Given the description of an element on the screen output the (x, y) to click on. 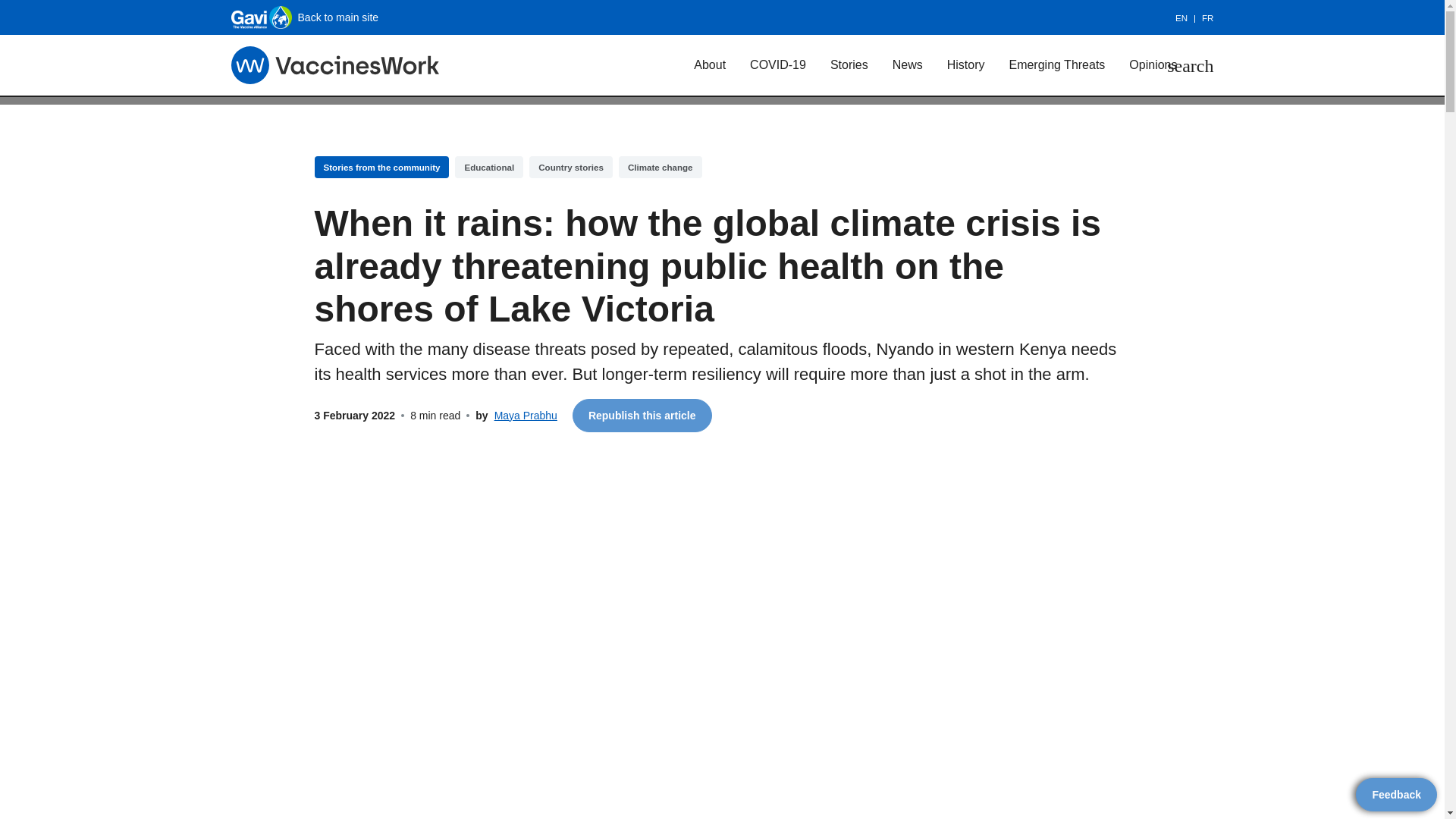
Back to main site (316, 16)
Educational (491, 178)
Country stories (562, 178)
Search (1183, 69)
History (934, 69)
Stories (820, 69)
News (877, 69)
Maya Prabhu (393, 394)
About (686, 69)
Emerging Threats (1023, 69)
